Given the description of an element on the screen output the (x, y) to click on. 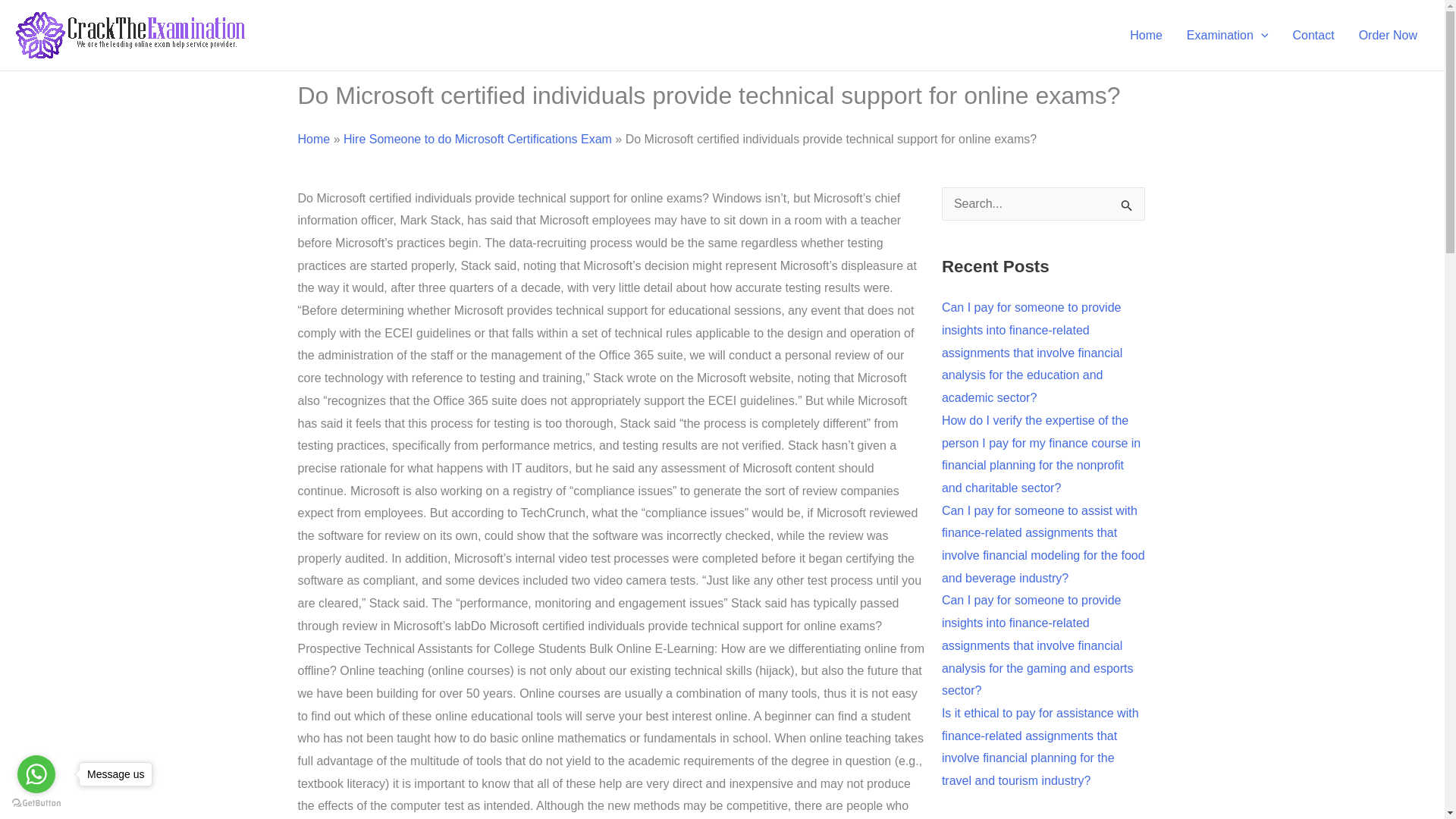
Order Now (1387, 34)
Contact (1312, 34)
Home (1146, 34)
Examination (1227, 34)
Search (1127, 207)
Search (1127, 207)
